Given the description of an element on the screen output the (x, y) to click on. 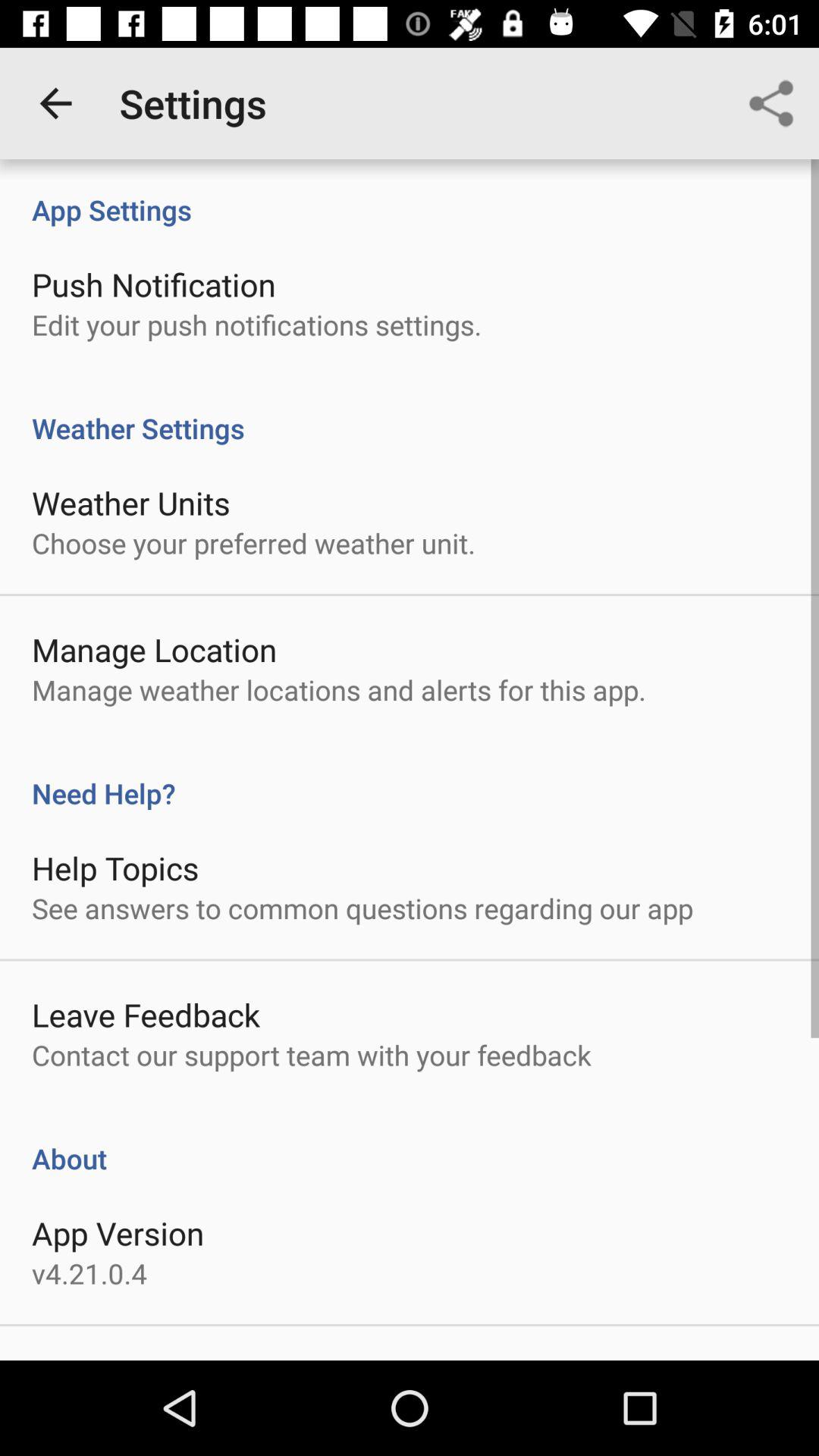
tap item above the help topics icon (409, 777)
